Given the description of an element on the screen output the (x, y) to click on. 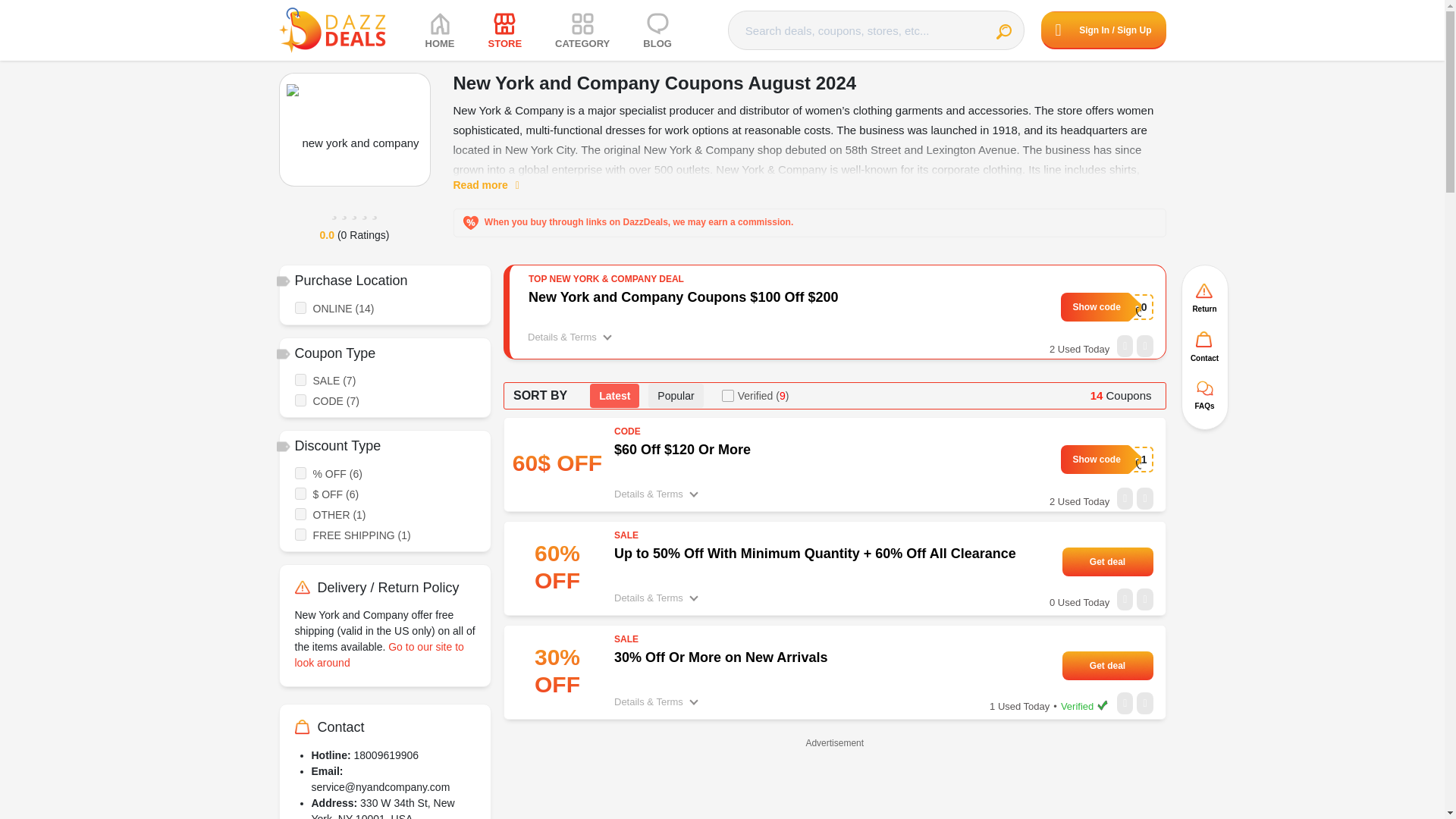
STORE (504, 29)
Read more (493, 185)
STORE (504, 29)
T100 (1107, 307)
CATEGORY (582, 29)
Go to our site to look around (378, 654)
CATEGORY (582, 29)
